Given the description of an element on the screen output the (x, y) to click on. 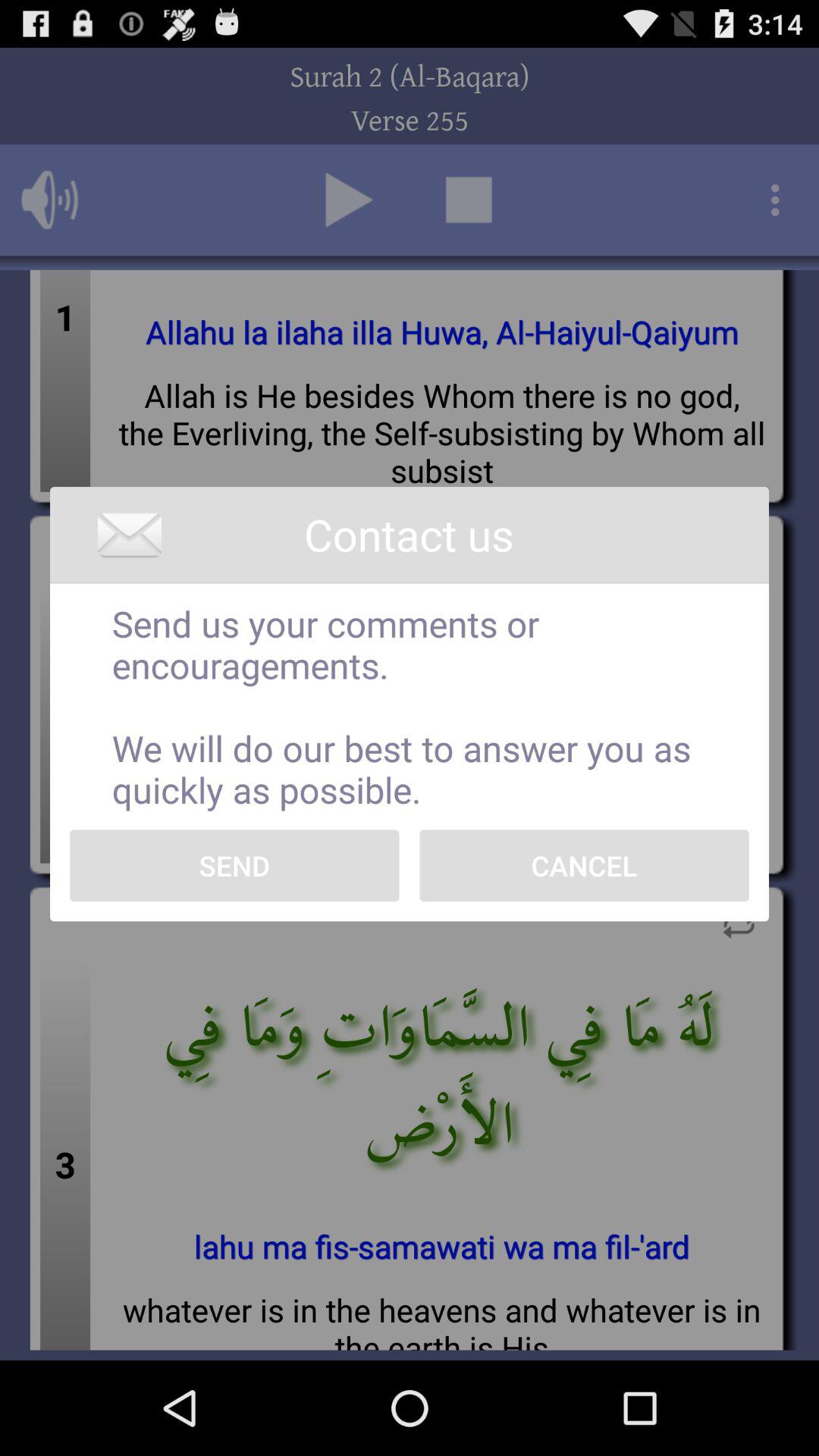
open the cancel (584, 865)
